Given the description of an element on the screen output the (x, y) to click on. 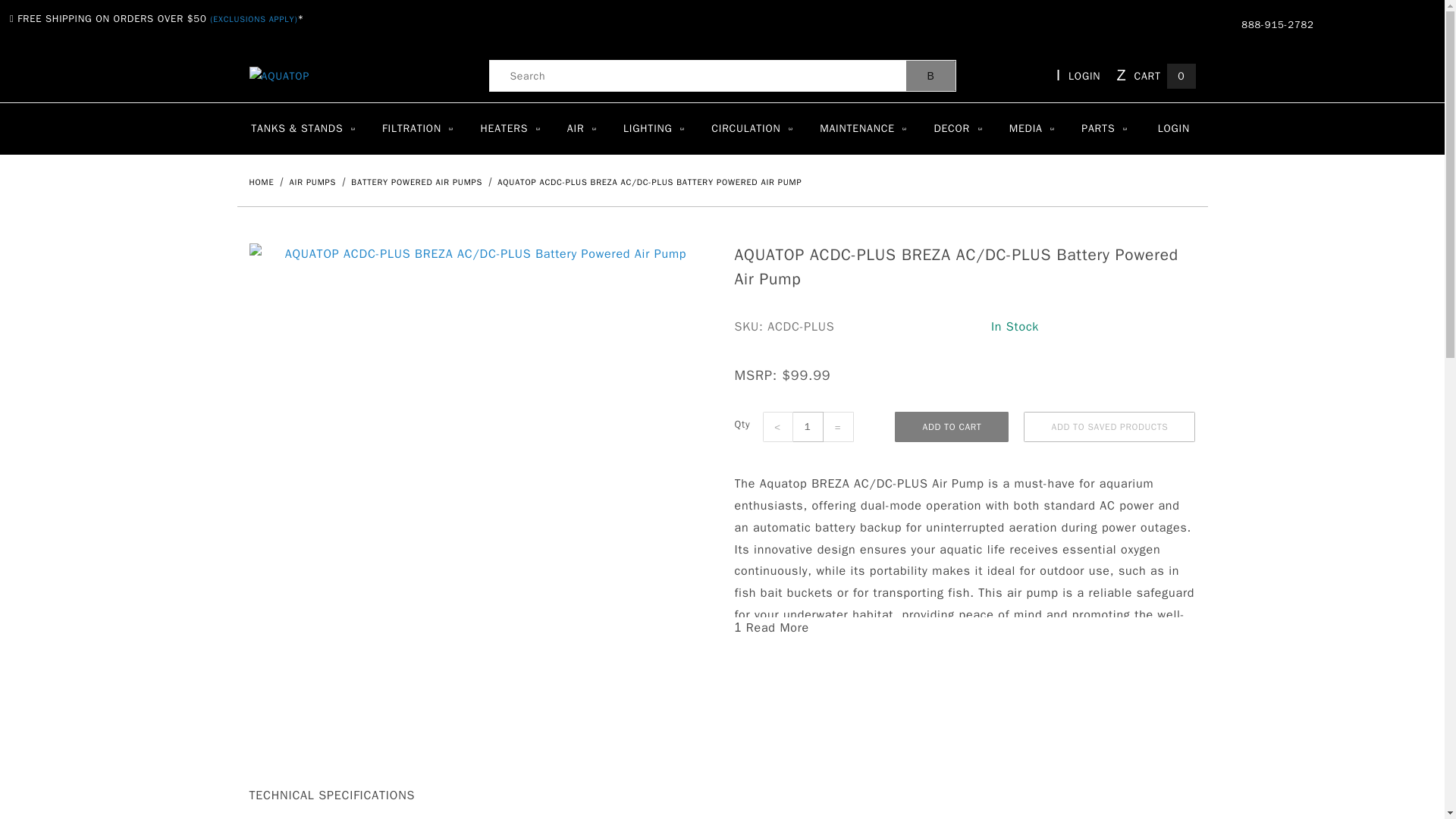
CART 0 (1152, 75)
Battery Powered Air Pumps (417, 181)
Home (262, 181)
1 (808, 426)
LOGIN (1078, 75)
FILTRATION (416, 128)
Add to Saved Products (1109, 426)
Air Pumps (314, 181)
Add To Cart (952, 426)
HEATERS (509, 128)
